Given the description of an element on the screen output the (x, y) to click on. 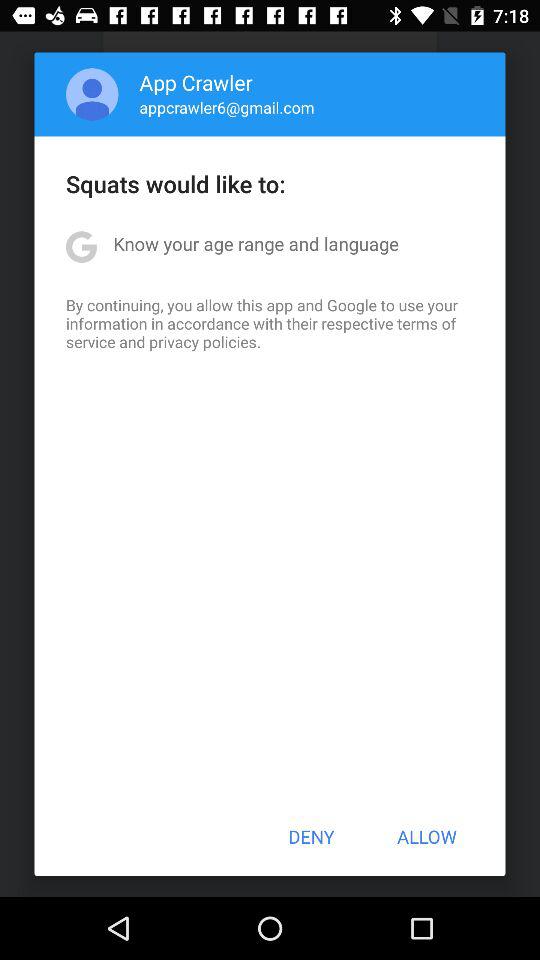
turn off the deny (311, 836)
